Given the description of an element on the screen output the (x, y) to click on. 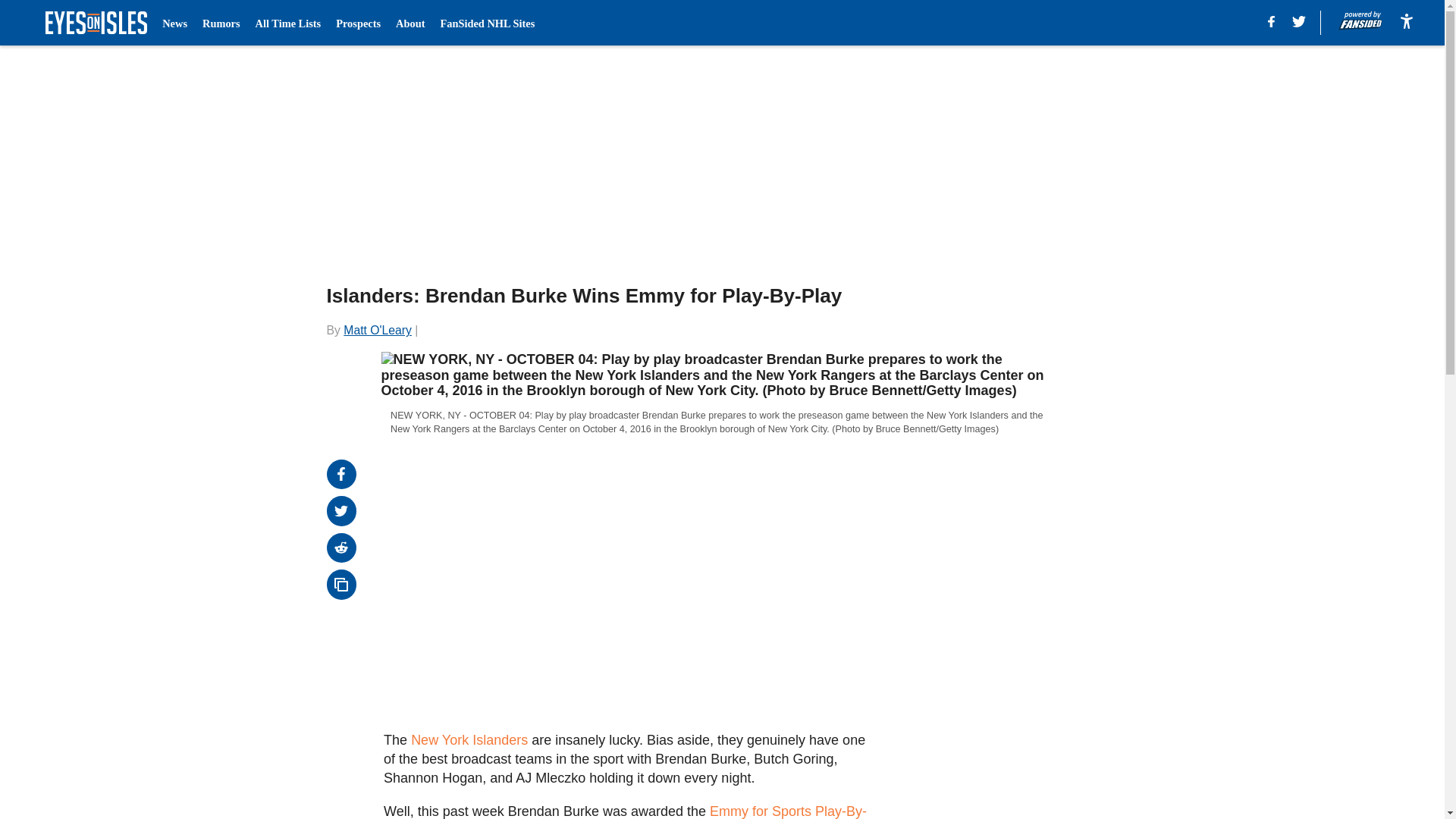
News (174, 23)
Emmy for Sports Play-By-Play (625, 811)
Matt O'Leary (377, 329)
Prospects (358, 23)
FanSided NHL Sites (486, 23)
Rumors (221, 23)
About (410, 23)
All Time Lists (288, 23)
New York Islanders (468, 739)
